Given the description of an element on the screen output the (x, y) to click on. 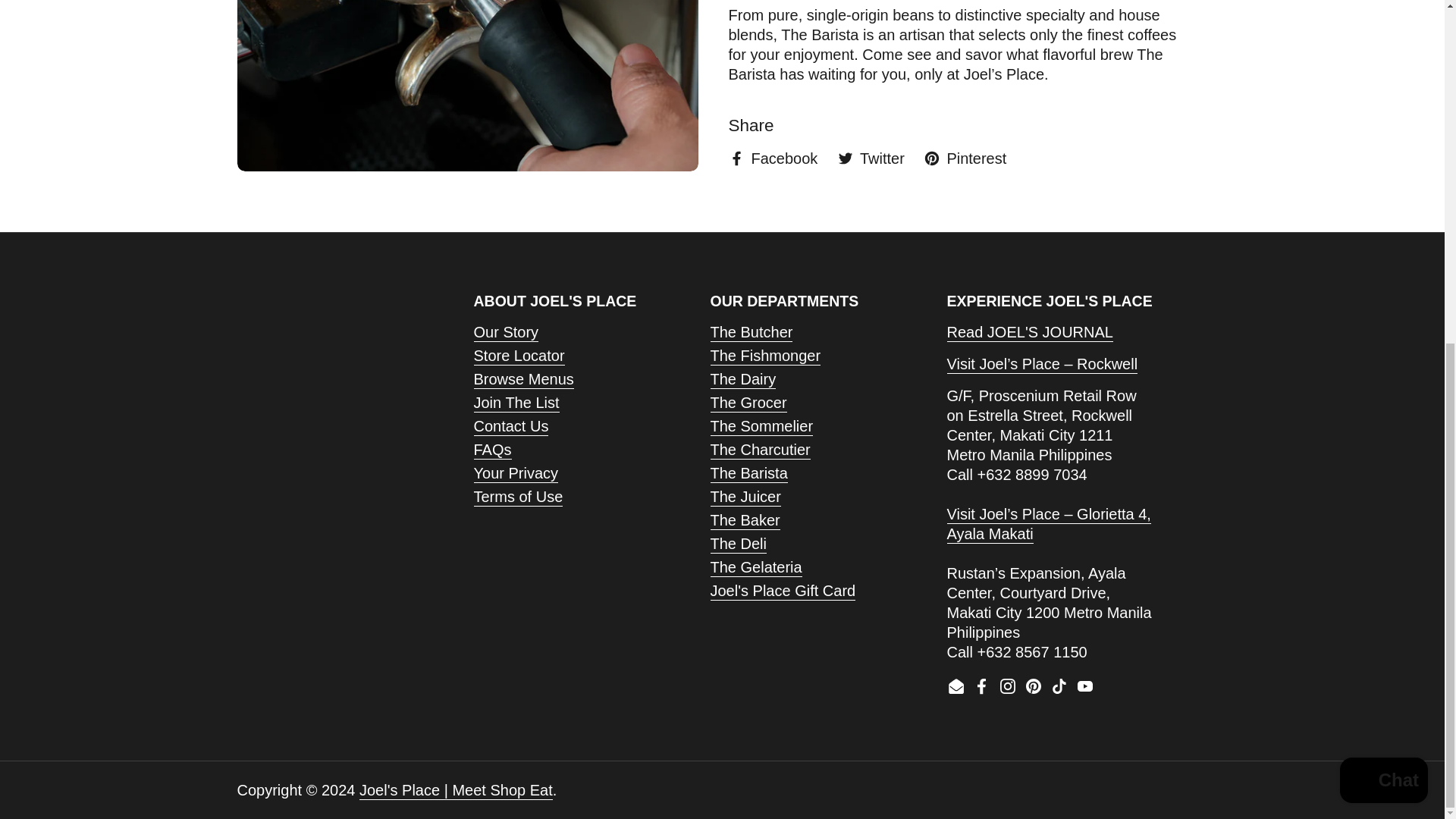
Shopify online store chat (1383, 195)
Share on facebook (772, 158)
Share on pinterest (964, 158)
Share on twitter (870, 158)
